Given the description of an element on the screen output the (x, y) to click on. 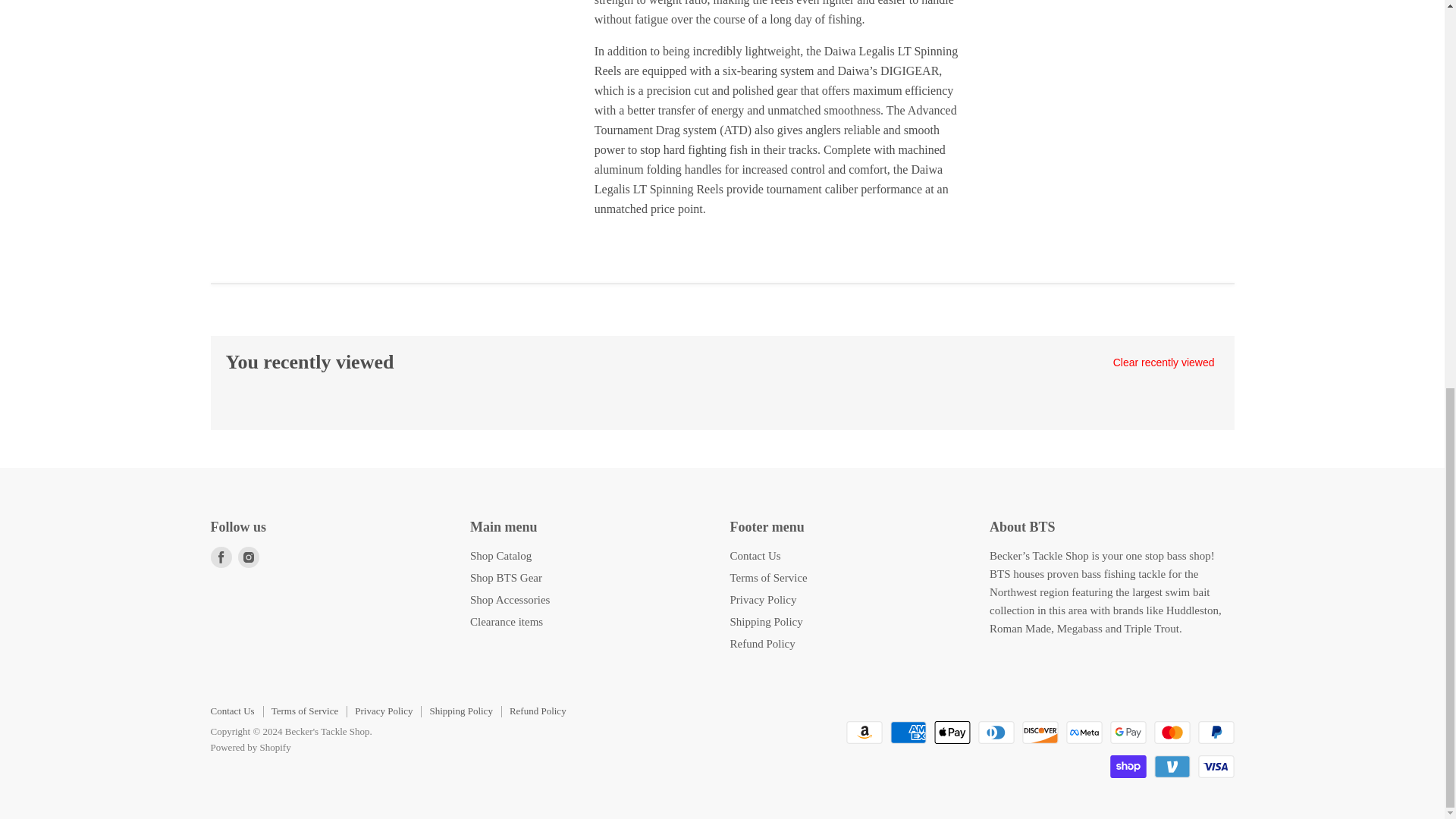
Find us on Facebook (221, 557)
Diners Club (996, 732)
Apple Pay (952, 732)
Shop Catalog (500, 555)
Clear recently viewed (1164, 362)
Shop BTS Gear (505, 577)
Instagram (248, 557)
Meta Pay (1083, 732)
Google Pay (1128, 732)
Shop Accessories (510, 599)
